Given the description of an element on the screen output the (x, y) to click on. 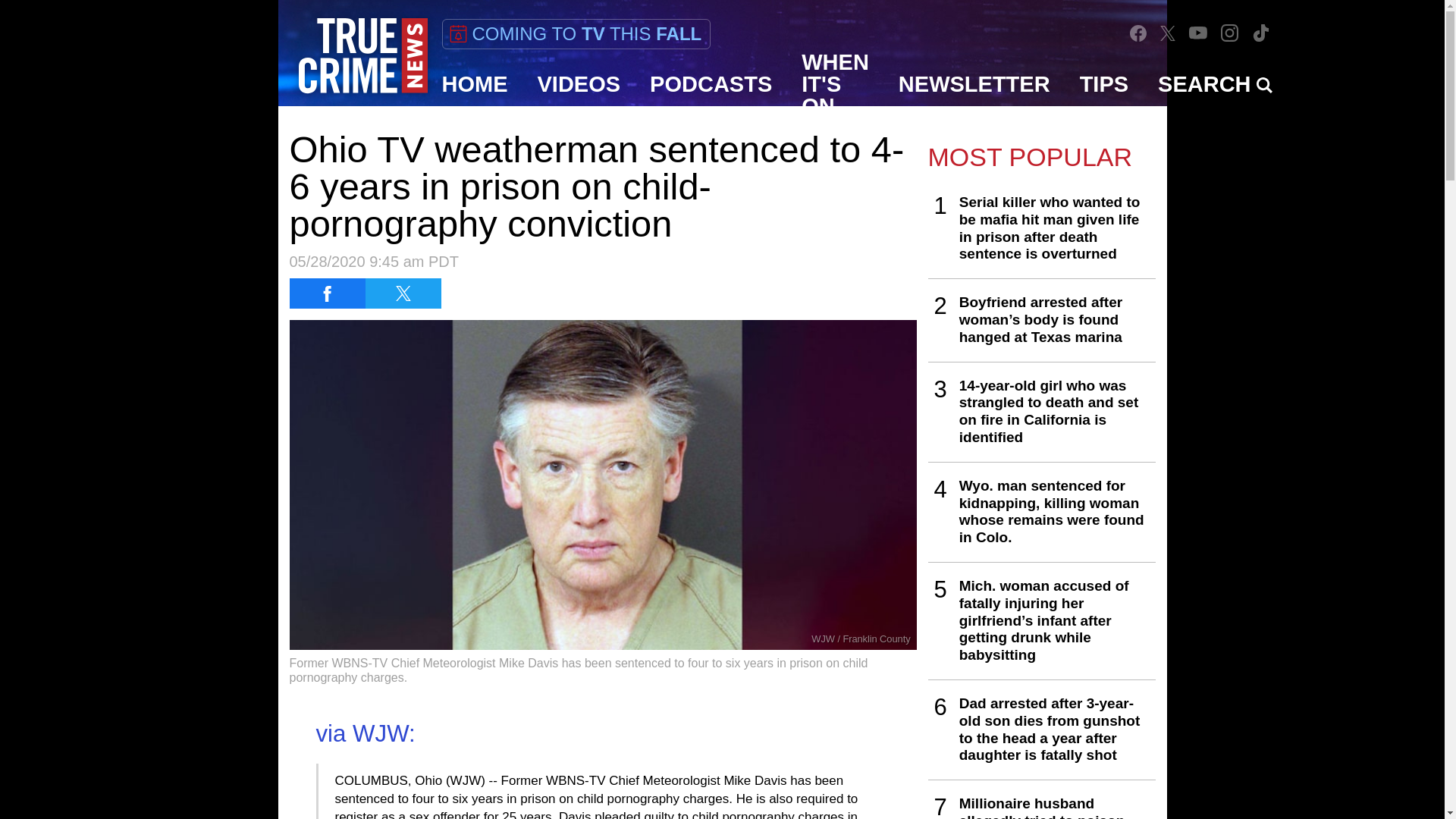
WHEN IT'S ON (835, 84)
TikTok (1260, 32)
Twitter (1167, 32)
Twitter (1167, 32)
Instagram (1230, 32)
PODCASTS (710, 84)
True Crime News (363, 56)
YouTube (1198, 32)
HOME (475, 84)
NEWSLETTER (974, 84)
Instagram (1229, 32)
COMING TO TV THIS FALL (575, 33)
VIDEOS (579, 84)
True Crime News (363, 56)
SEARCH (1214, 84)
